Given the description of an element on the screen output the (x, y) to click on. 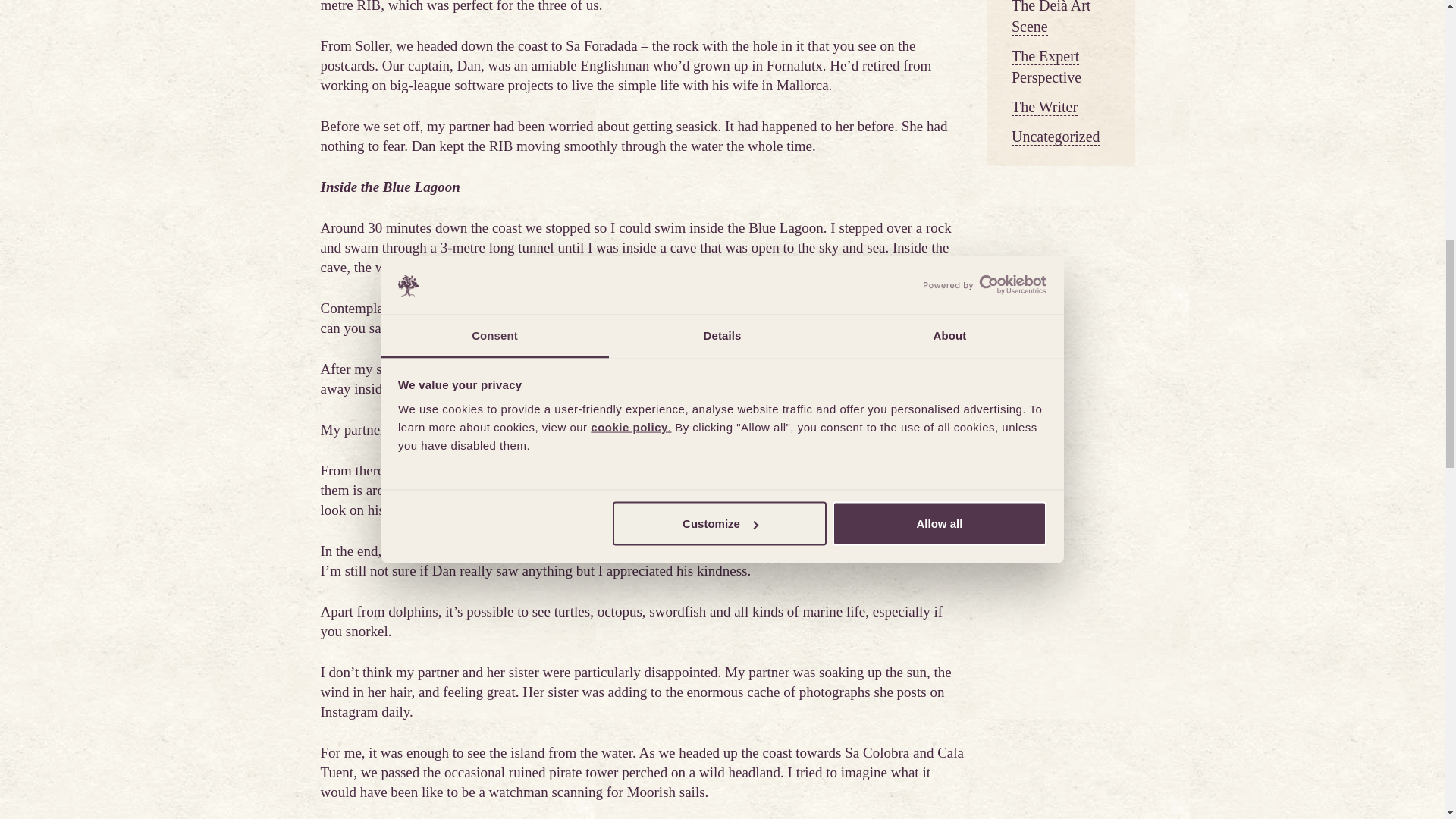
Request a call back (1251, 412)
I agree to Charles Marlow's (1104, 341)
I'd like to hear about properties and local news. (1104, 370)
